Given the description of an element on the screen output the (x, y) to click on. 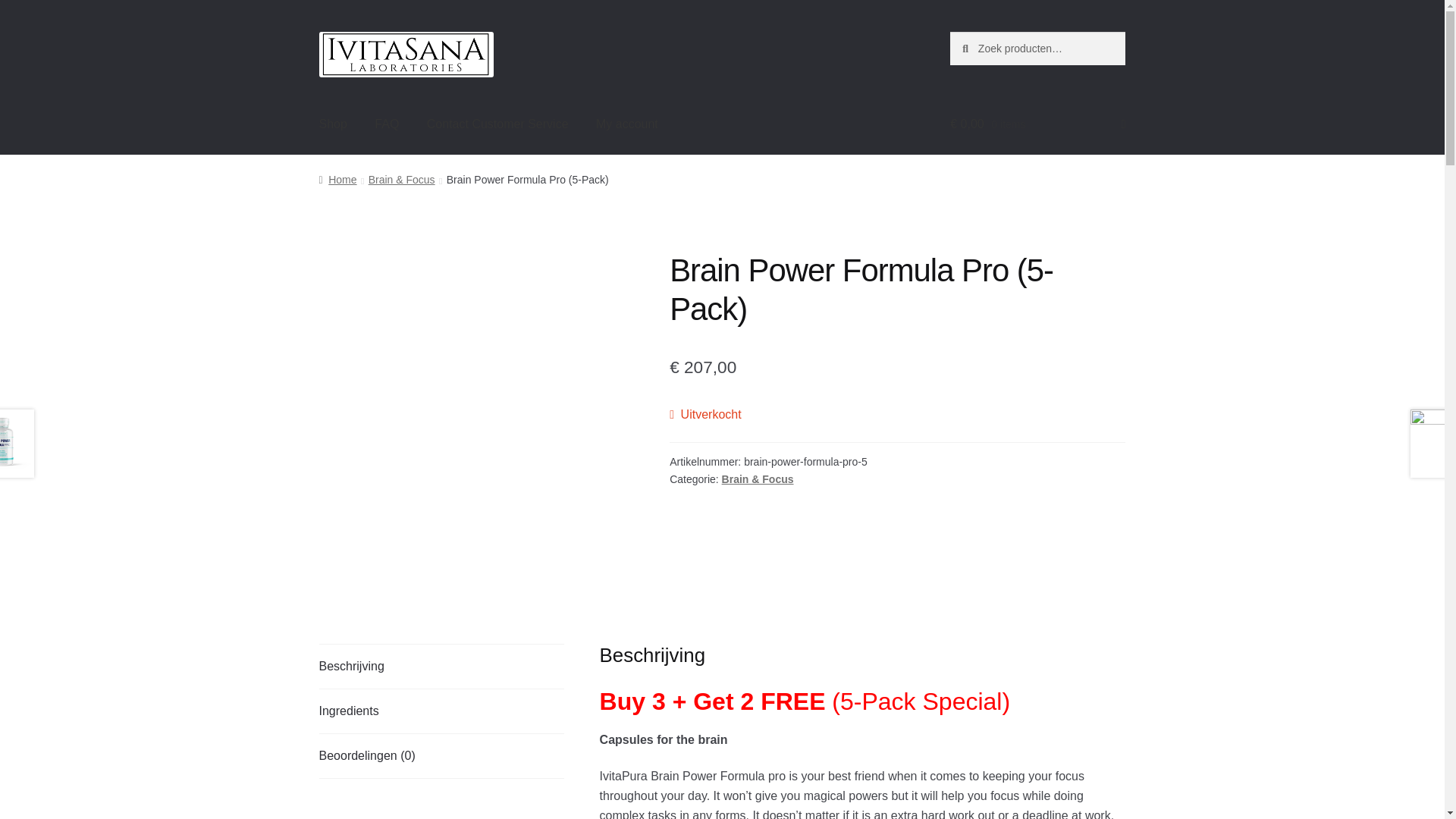
Contact Customer Service (497, 124)
My account (626, 124)
Beschrijving (441, 666)
Ingredients (441, 711)
Home (337, 179)
Bekijk je winkelwagen (1037, 124)
